Given the description of an element on the screen output the (x, y) to click on. 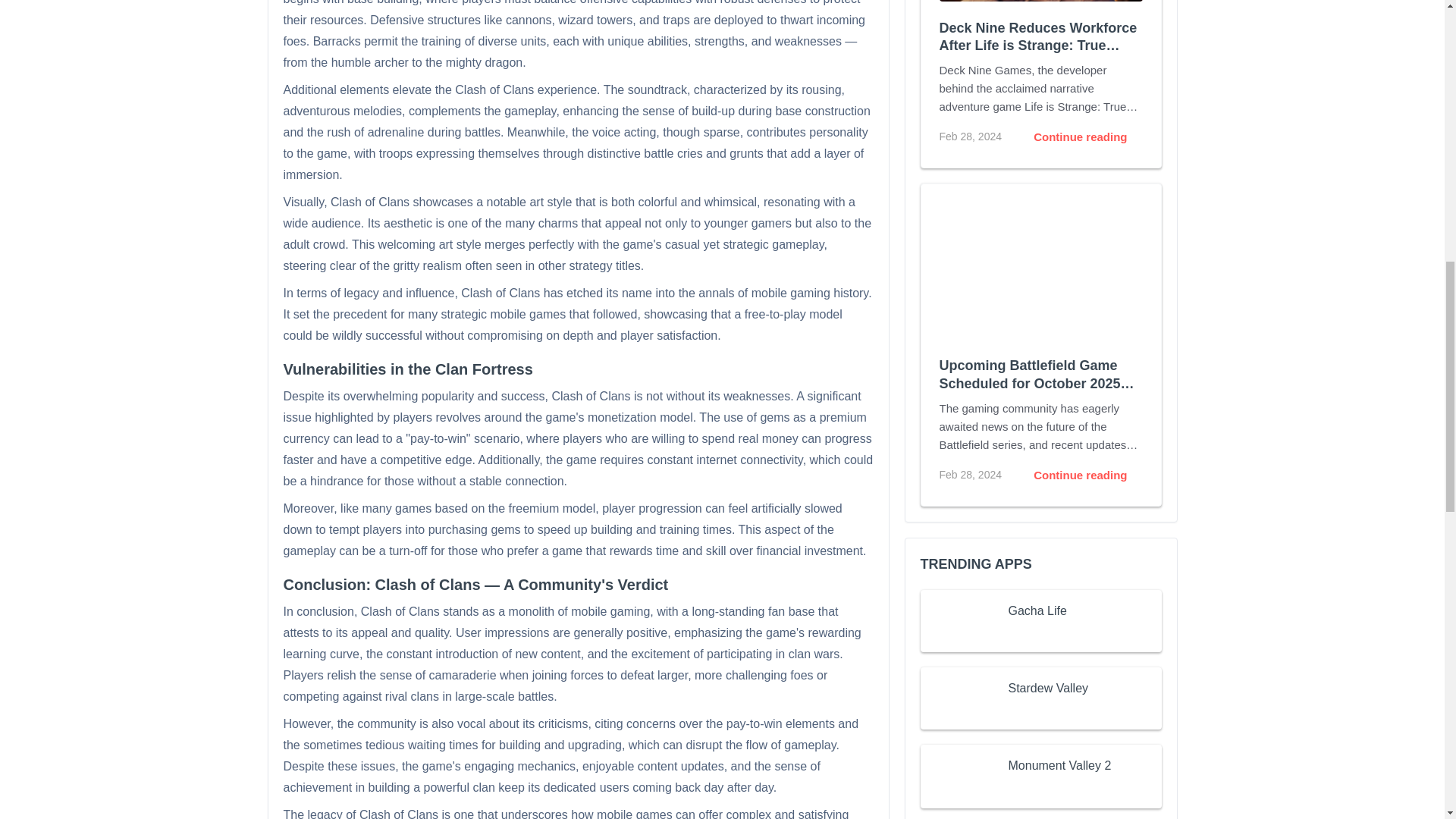
Stardew Valley (1049, 688)
User rating 4.8 (1042, 788)
User rating 4.4 (1042, 633)
Monument Valley 2 (1060, 765)
User rating 4.7 (1042, 711)
Gacha Life (1038, 610)
